Given the description of an element on the screen output the (x, y) to click on. 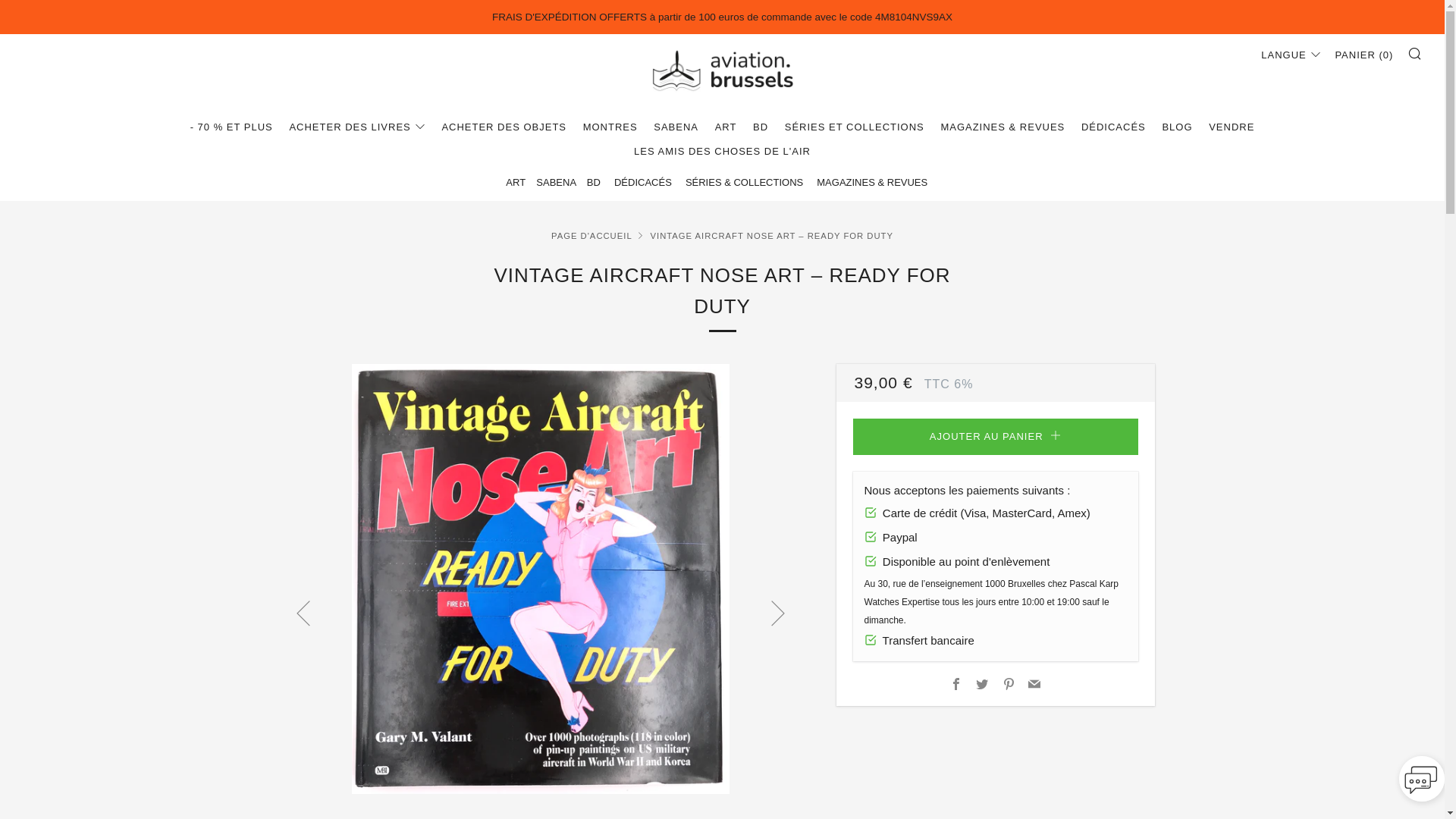
ACHETER DES LIVRES (356, 127)
Page d'accueil (591, 235)
ACHETER DES OBJETS (503, 127)
